Given the description of an element on the screen output the (x, y) to click on. 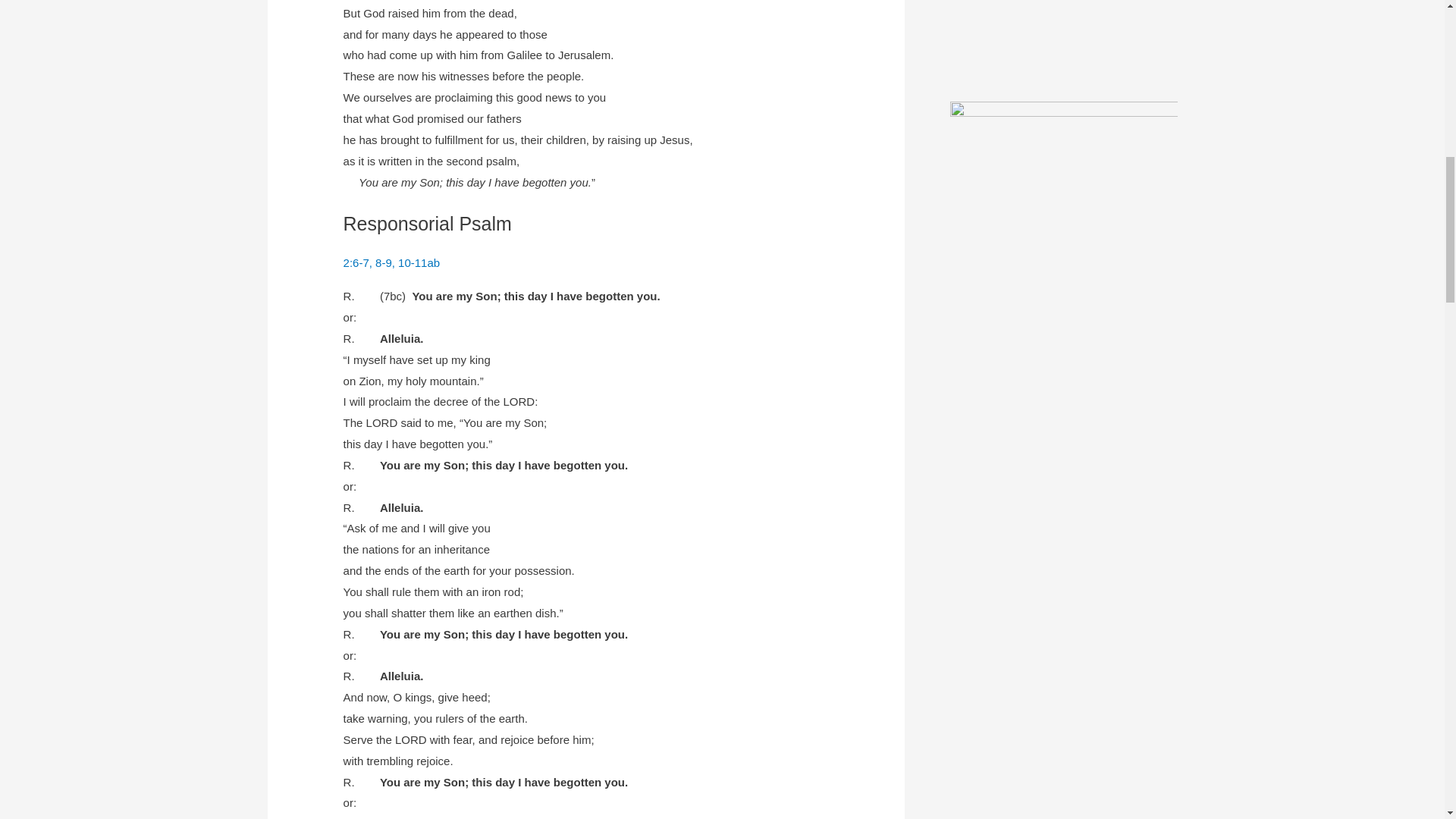
2:6-7, 8-9, 10-11ab (392, 262)
